Given the description of an element on the screen output the (x, y) to click on. 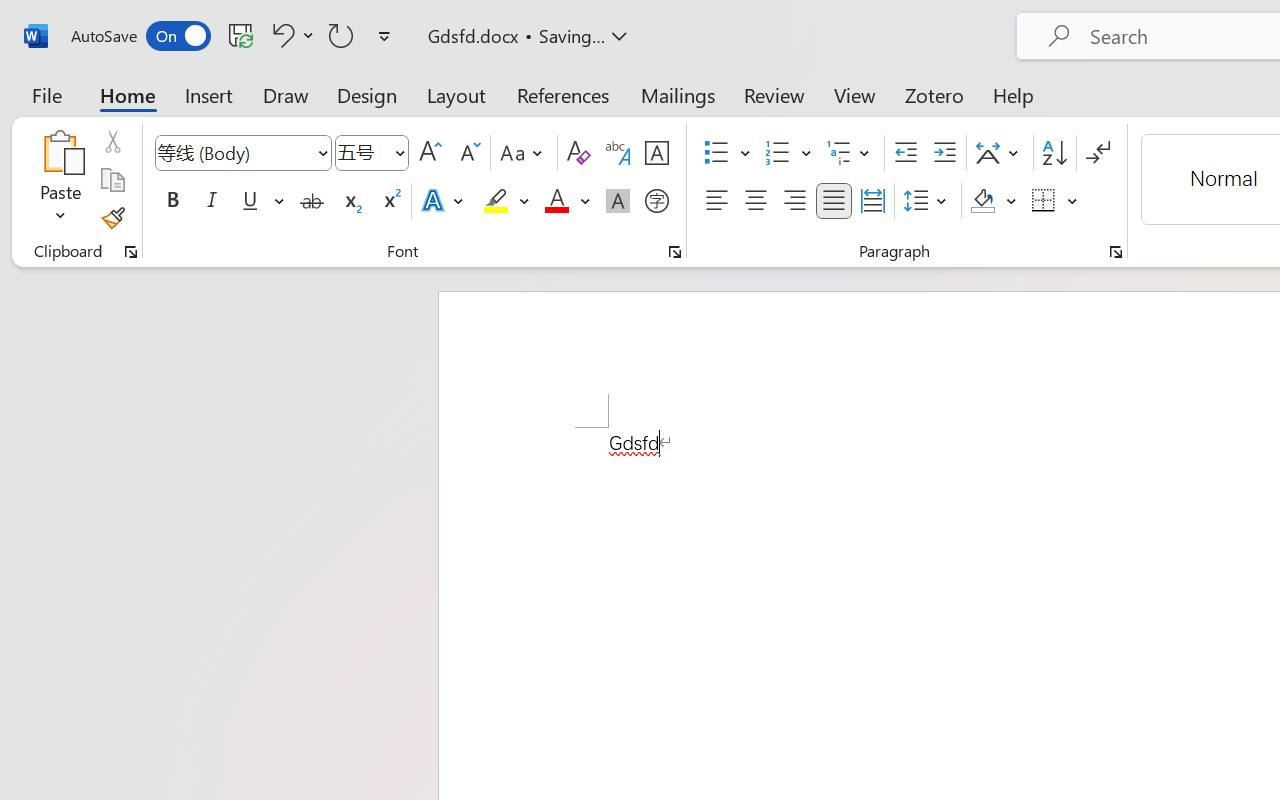
Repeat Style (341, 35)
Show/Hide Editing Marks (1098, 153)
Strikethrough (312, 201)
Asian Layout (1000, 153)
Format Painter (112, 218)
Text Highlight Color Yellow (495, 201)
Shrink Font (468, 153)
Justify (834, 201)
Undo Style (290, 35)
Grow Font (430, 153)
Align Right (794, 201)
Clear Formatting (578, 153)
Font Color Red (556, 201)
